Given the description of an element on the screen output the (x, y) to click on. 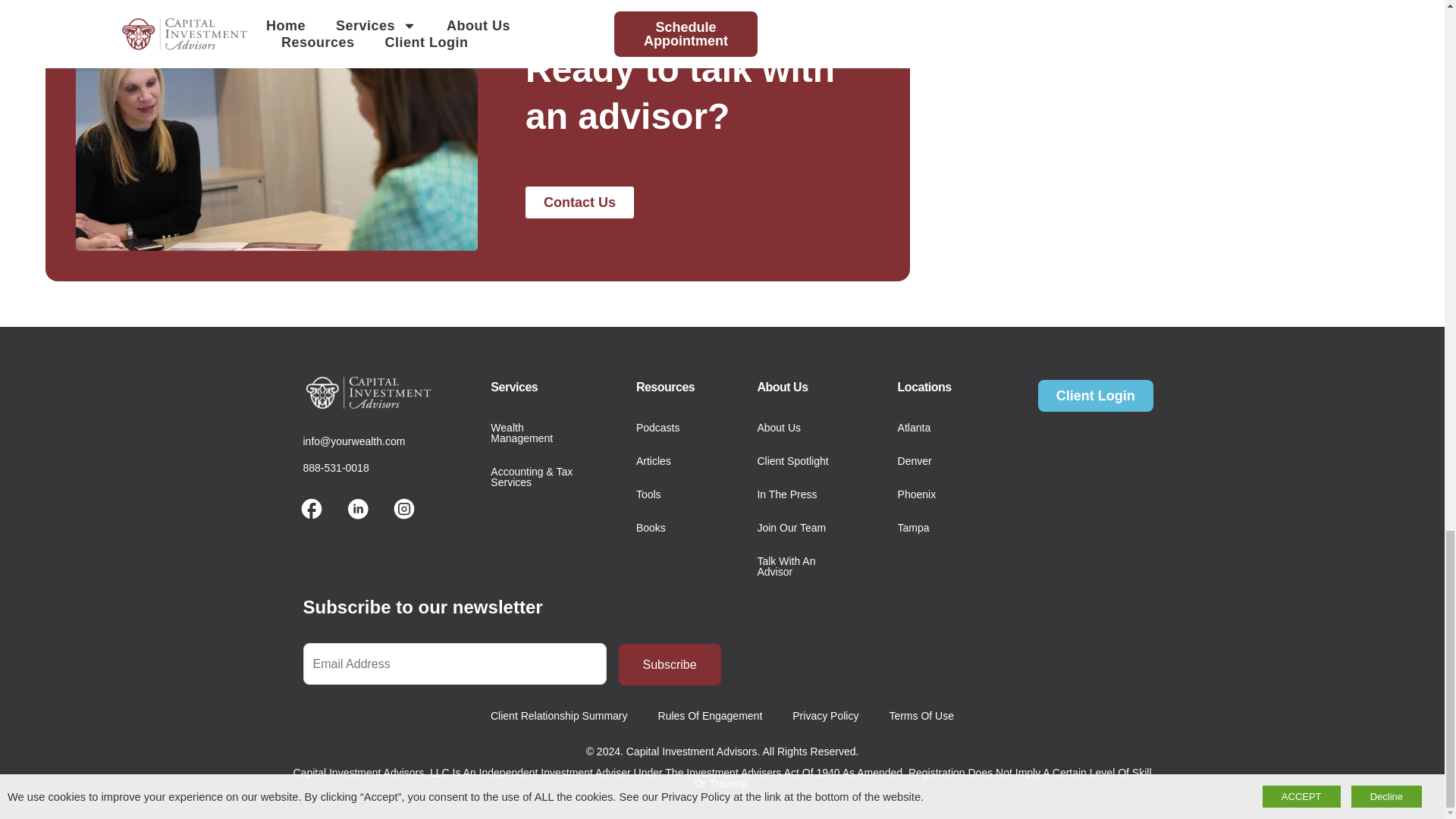
Subscribe (669, 664)
